Given the description of an element on the screen output the (x, y) to click on. 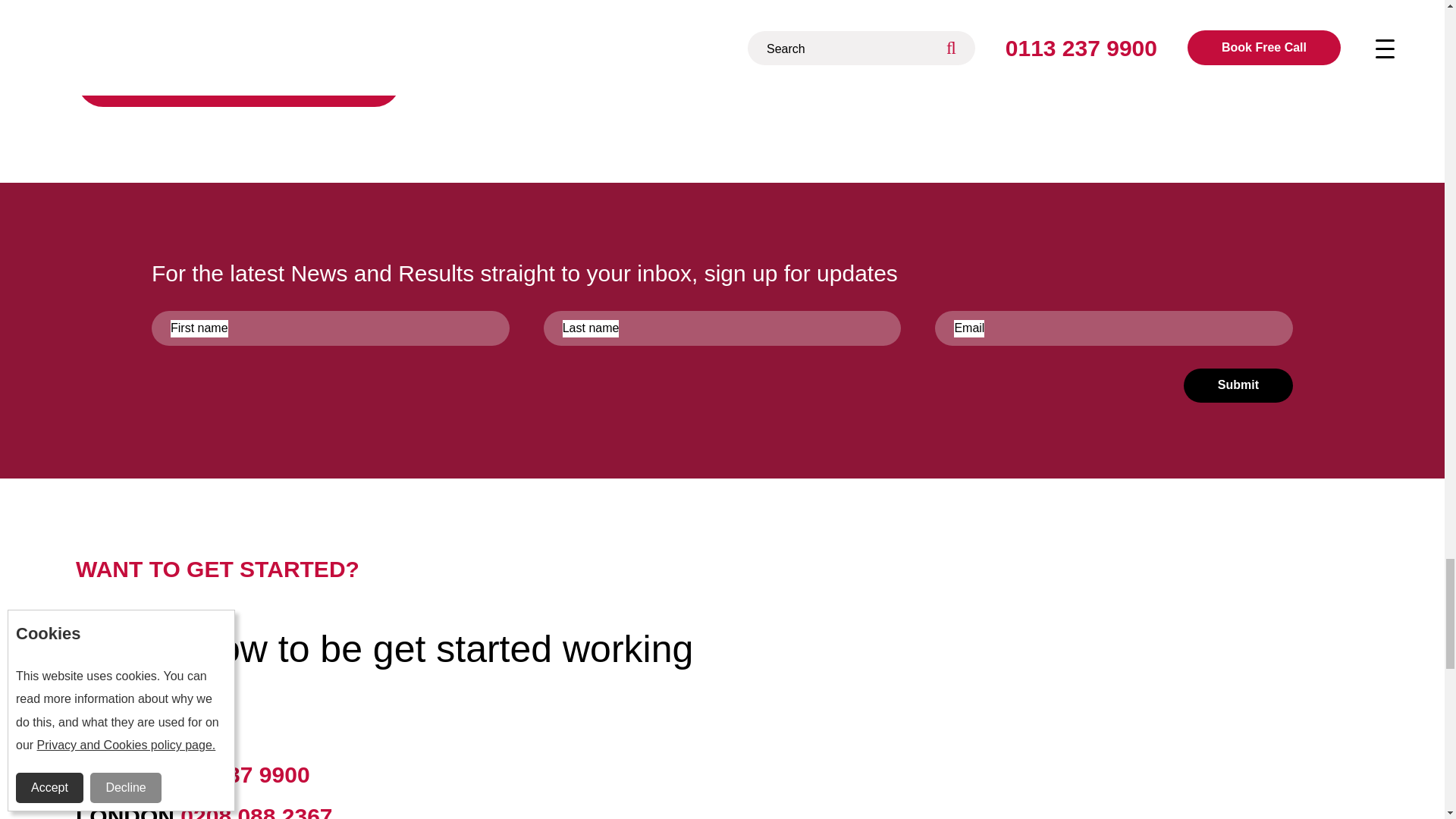
0113 237 9900 (232, 774)
Email me (238, 81)
Submit (1237, 385)
0208 088 2367 (255, 811)
